Given the description of an element on the screen output the (x, y) to click on. 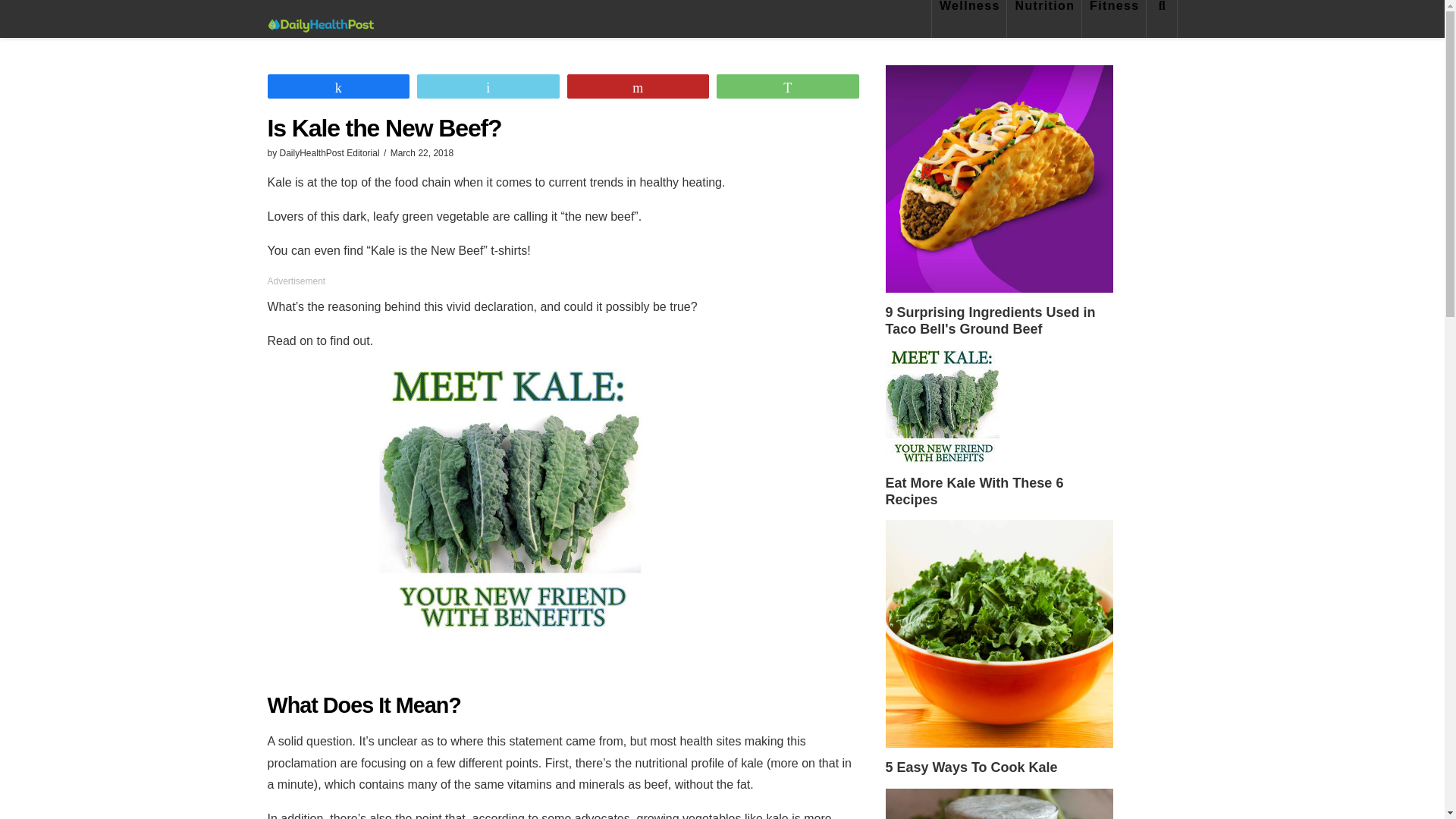
Wellness (969, 18)
Eat More Kale With These 6 Recipes (941, 406)
5 Easy Ways To Cook Kale (999, 633)
Fitness (1114, 18)
Eat More Kale With These 6 Recipes (999, 428)
Nutrition (1044, 18)
9 Surprising Ingredients Used in Taco Bell's Ground Beef (999, 178)
